Given the description of an element on the screen output the (x, y) to click on. 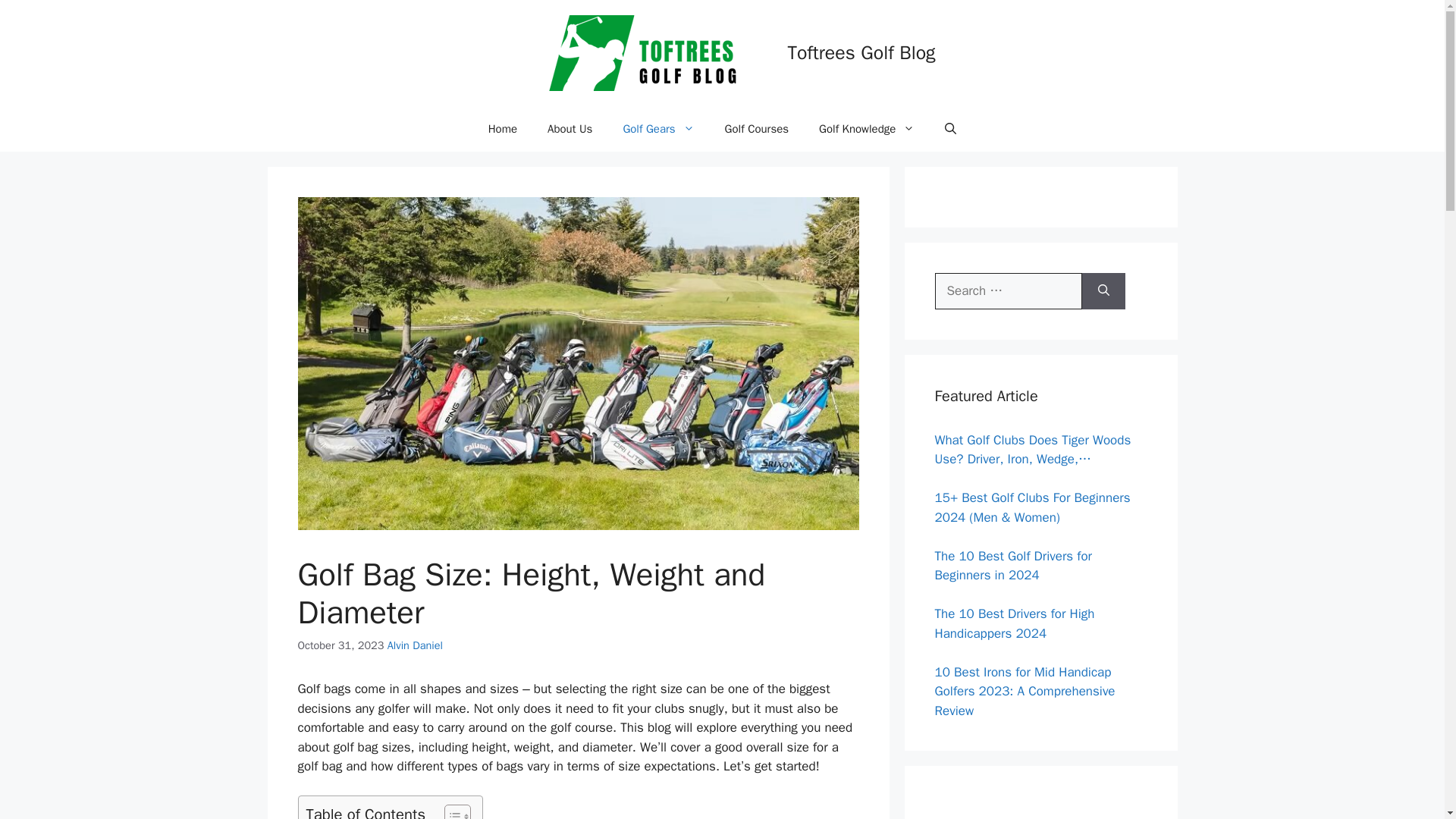
Alvin Daniel (414, 644)
About Us (569, 128)
Alvin Daniel (414, 644)
Toftrees Golf Blog (860, 52)
Golf Courses (756, 128)
Golf Knowledge (866, 128)
Golf Gears (658, 128)
Search for: (1007, 290)
Home (502, 128)
